Given the description of an element on the screen output the (x, y) to click on. 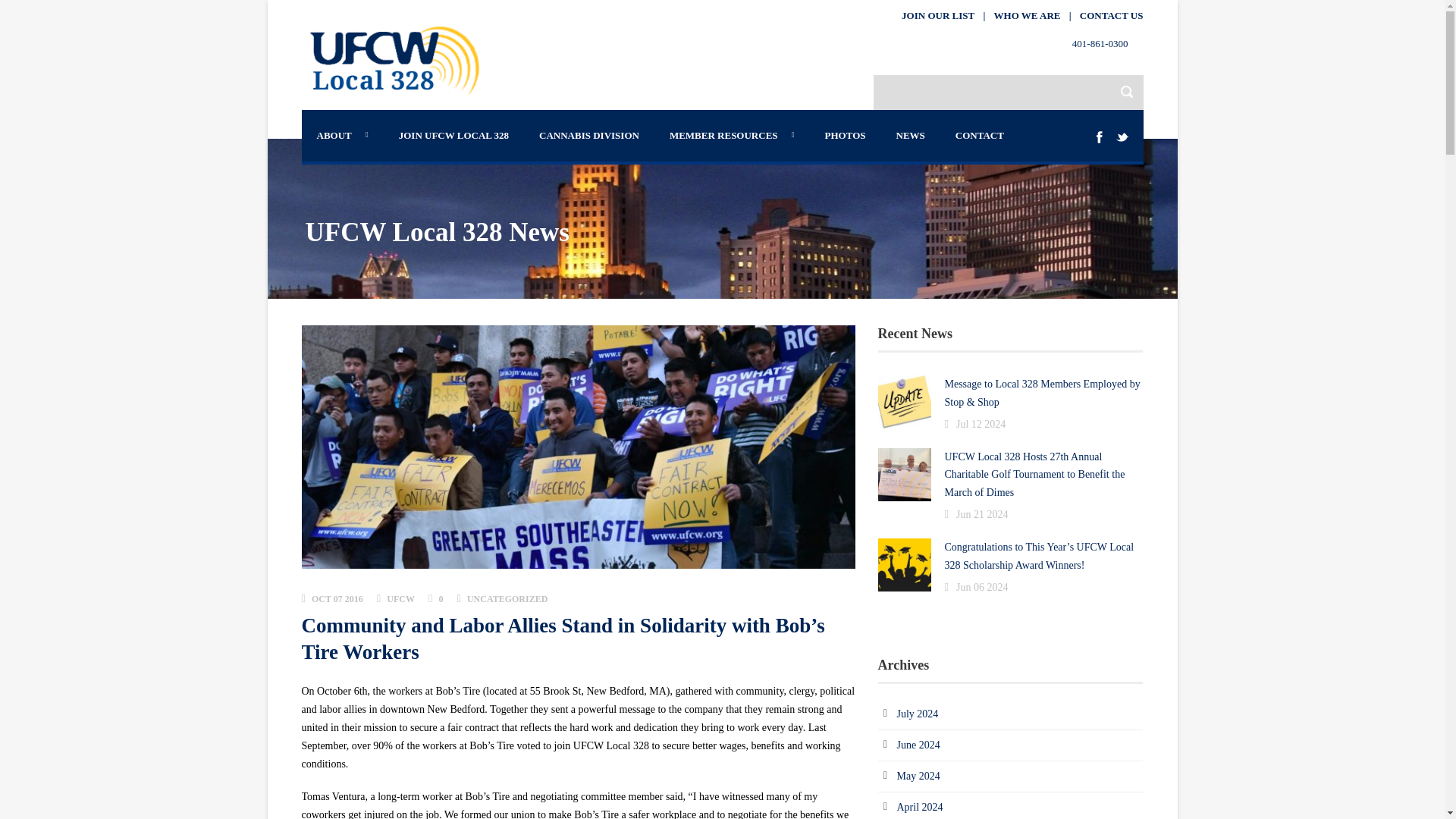
ABOUT (342, 135)
CANNABIS DIVISION (588, 135)
JOIN OUR LIST (937, 15)
WHO WE ARE (1027, 15)
Posts by UFCW (400, 598)
CONTACT US (1111, 15)
JOIN UFCW LOCAL 328 (454, 135)
